Given the description of an element on the screen output the (x, y) to click on. 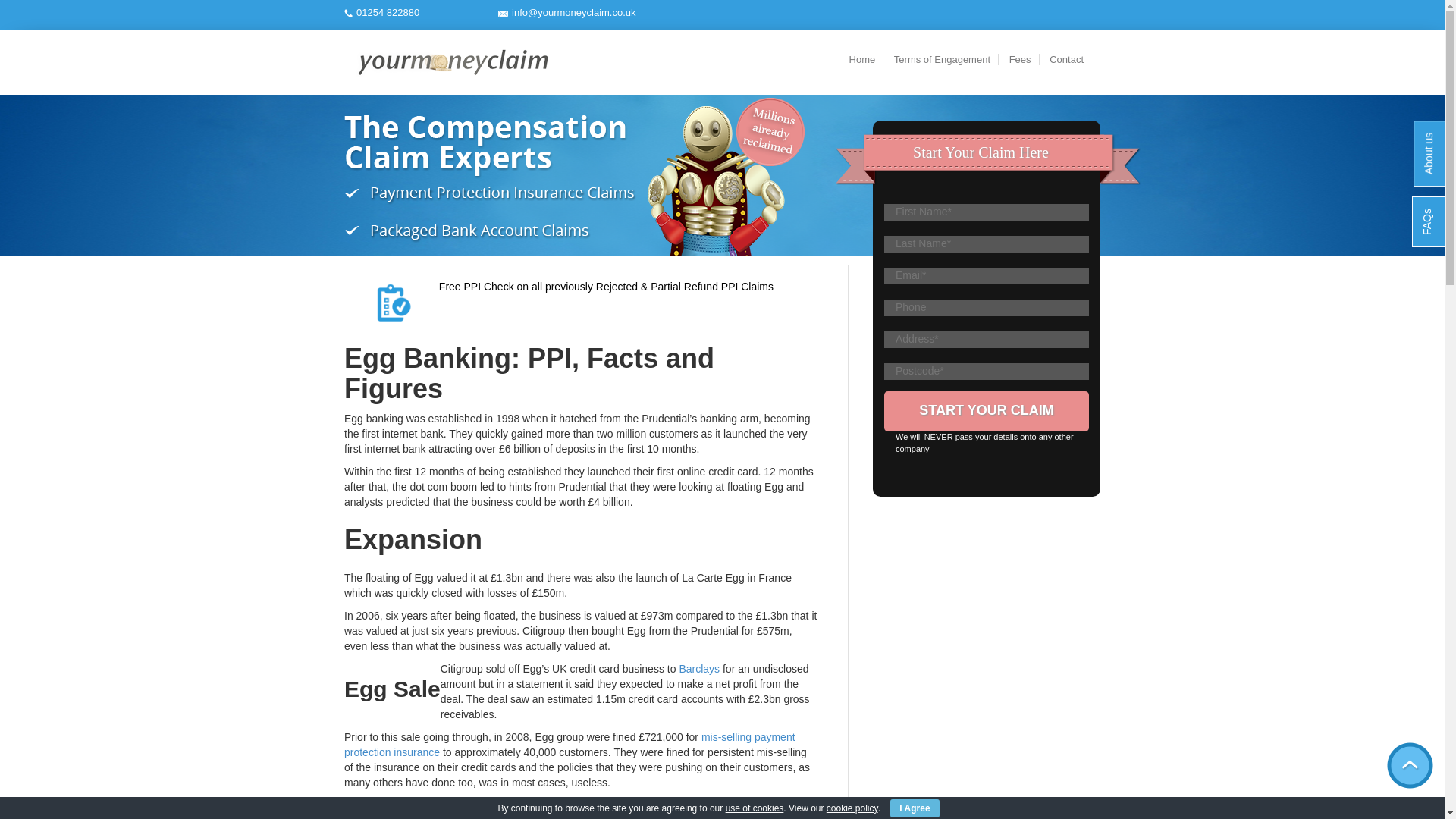
mis-selling payment protection insurance (568, 744)
Fees (1020, 59)
Contact (1066, 59)
Home (862, 59)
Terms of Engagement (941, 59)
Barclays (698, 668)
START YOUR CLAIM (986, 411)
START YOUR CLAIM (986, 411)
Your Money Claim (451, 61)
